Given the description of an element on the screen output the (x, y) to click on. 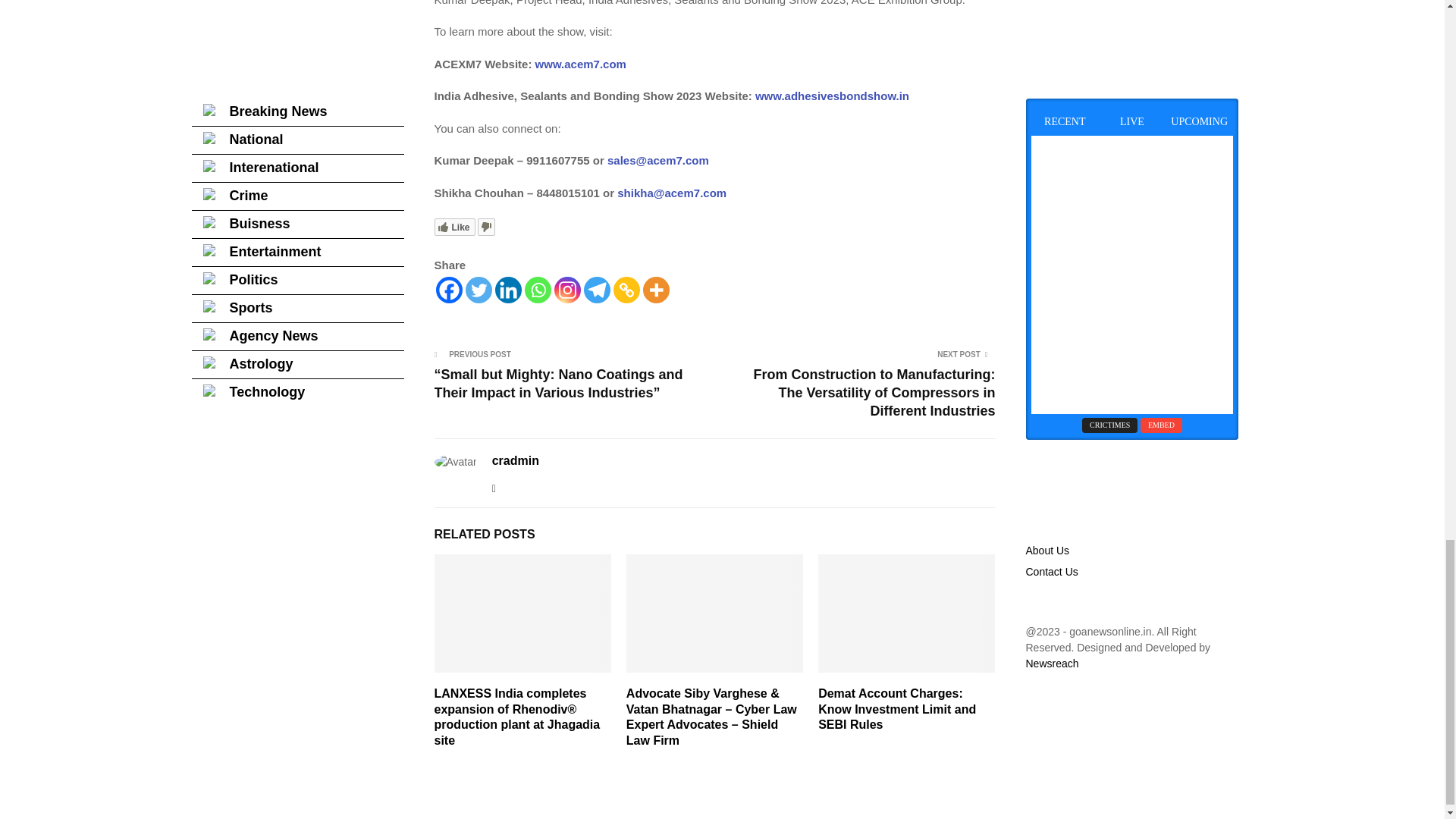
www.acem7.com (578, 63)
www.adhesivesbondshow.in (830, 95)
